Given the description of an element on the screen output the (x, y) to click on. 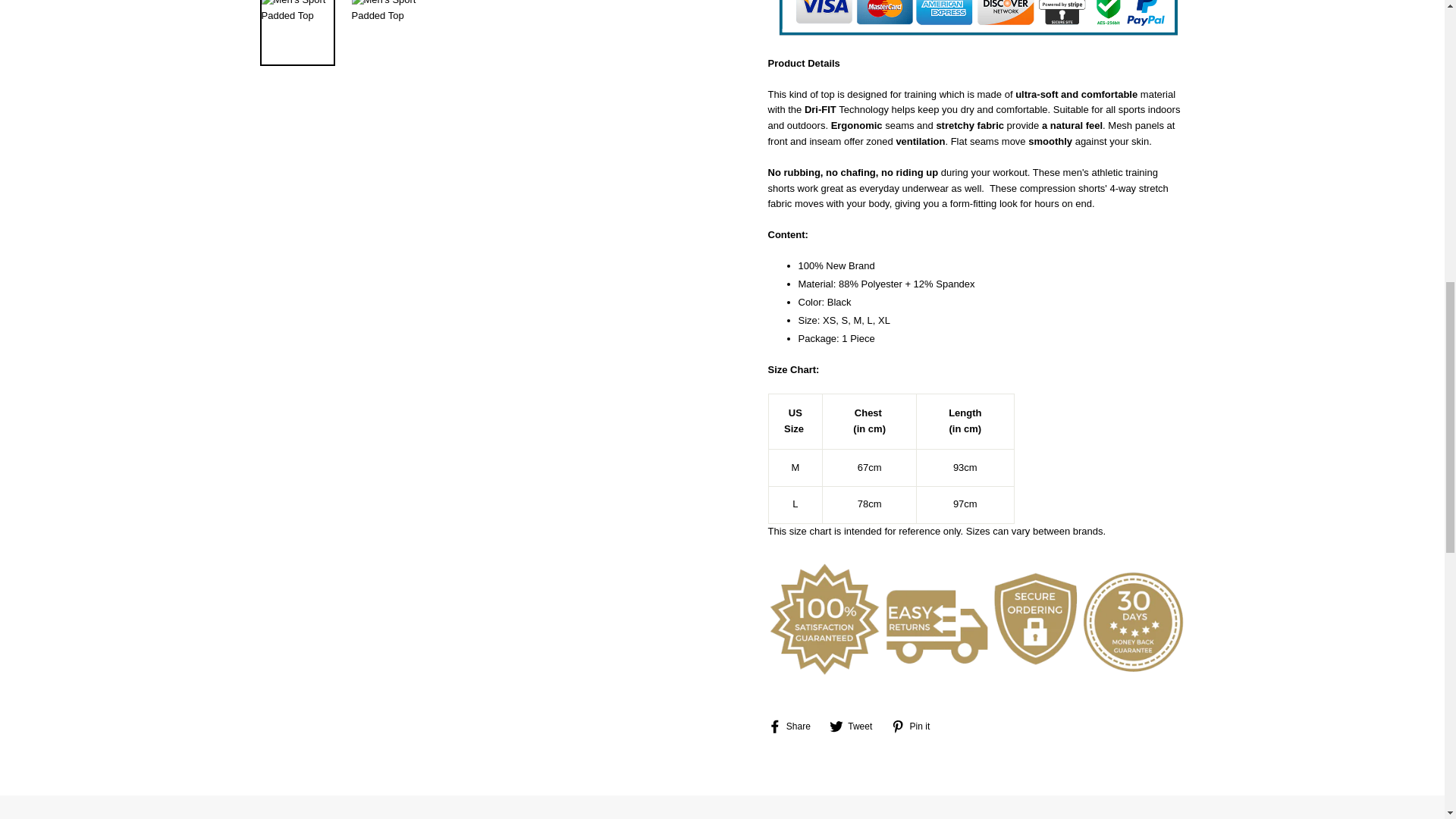
Tweet on Twitter (856, 726)
Share on Facebook (794, 726)
Pin on Pinterest (915, 726)
